Given the description of an element on the screen output the (x, y) to click on. 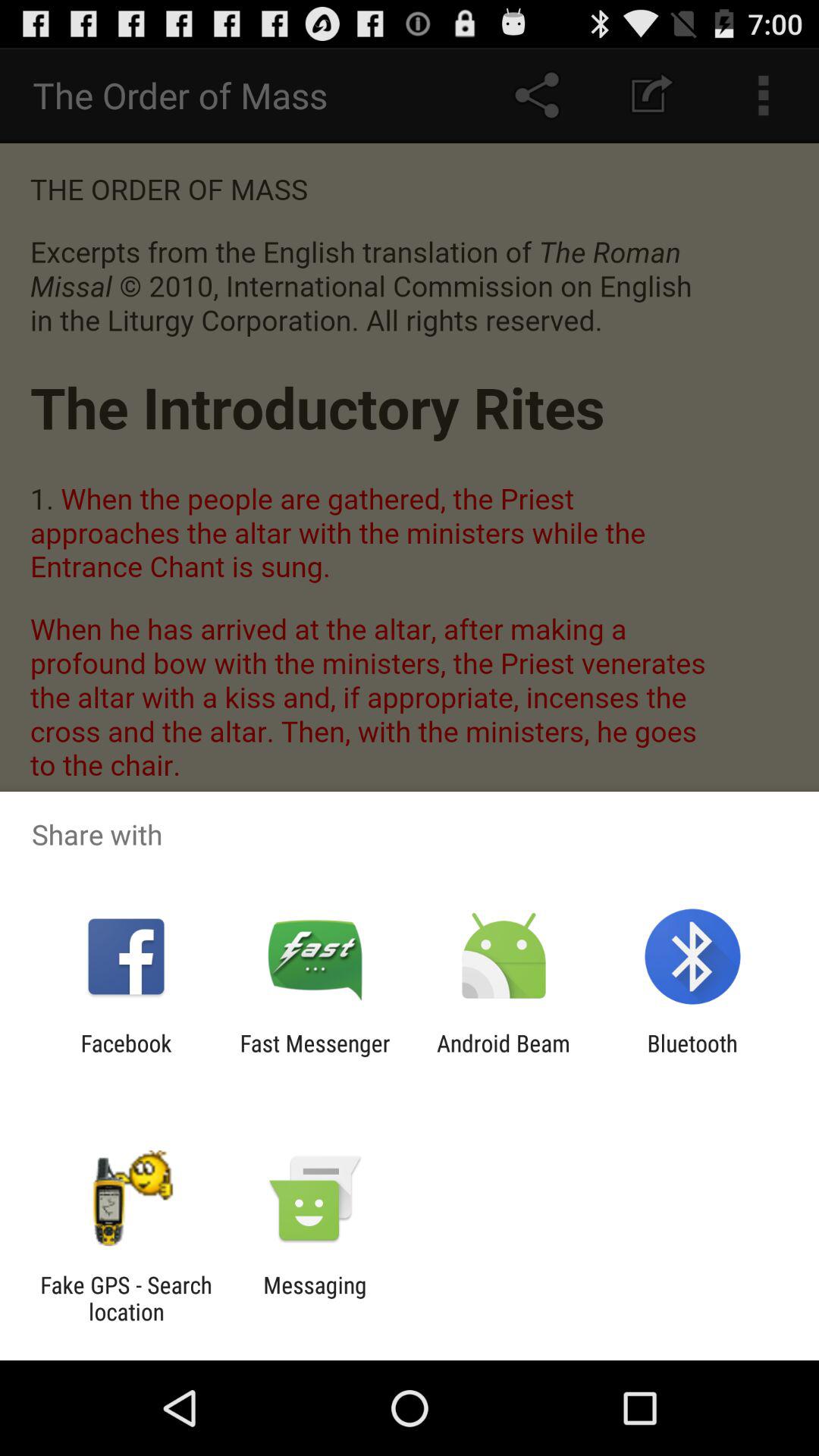
open the icon to the left of the messaging (125, 1298)
